Given the description of an element on the screen output the (x, y) to click on. 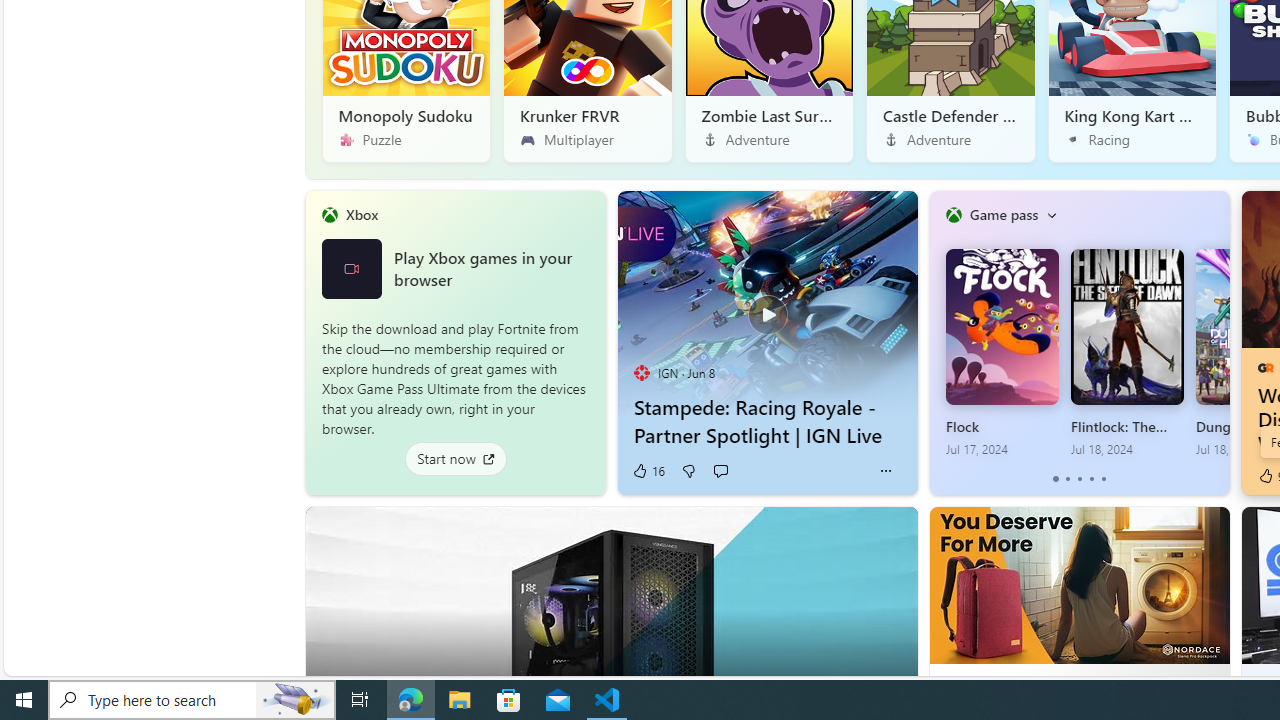
IGN (641, 372)
Flock Jul 17, 2024 (1001, 353)
Select Category (1051, 214)
tab-3 (1091, 479)
Start now (454, 458)
Game pass (1003, 214)
Class: next-flipper (1218, 342)
Flintlock: The Siege of Dawn Jul 18, 2024 (1127, 353)
Class: icon-img (1051, 214)
tab-0 (1055, 479)
GameRant (1264, 367)
tab-4 (1102, 479)
